Given the description of an element on the screen output the (x, y) to click on. 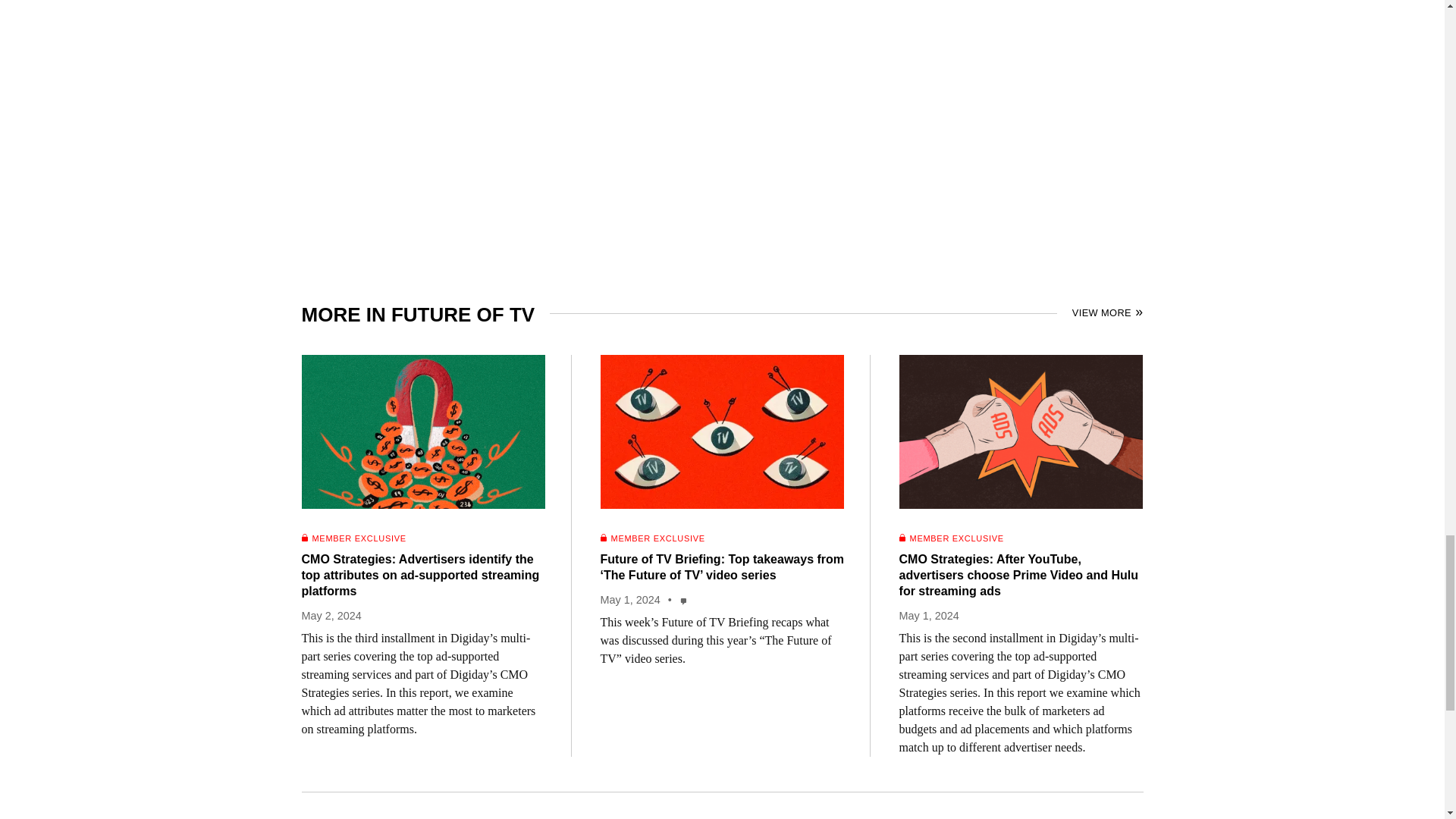
Join the conversation (683, 600)
